Given the description of an element on the screen output the (x, y) to click on. 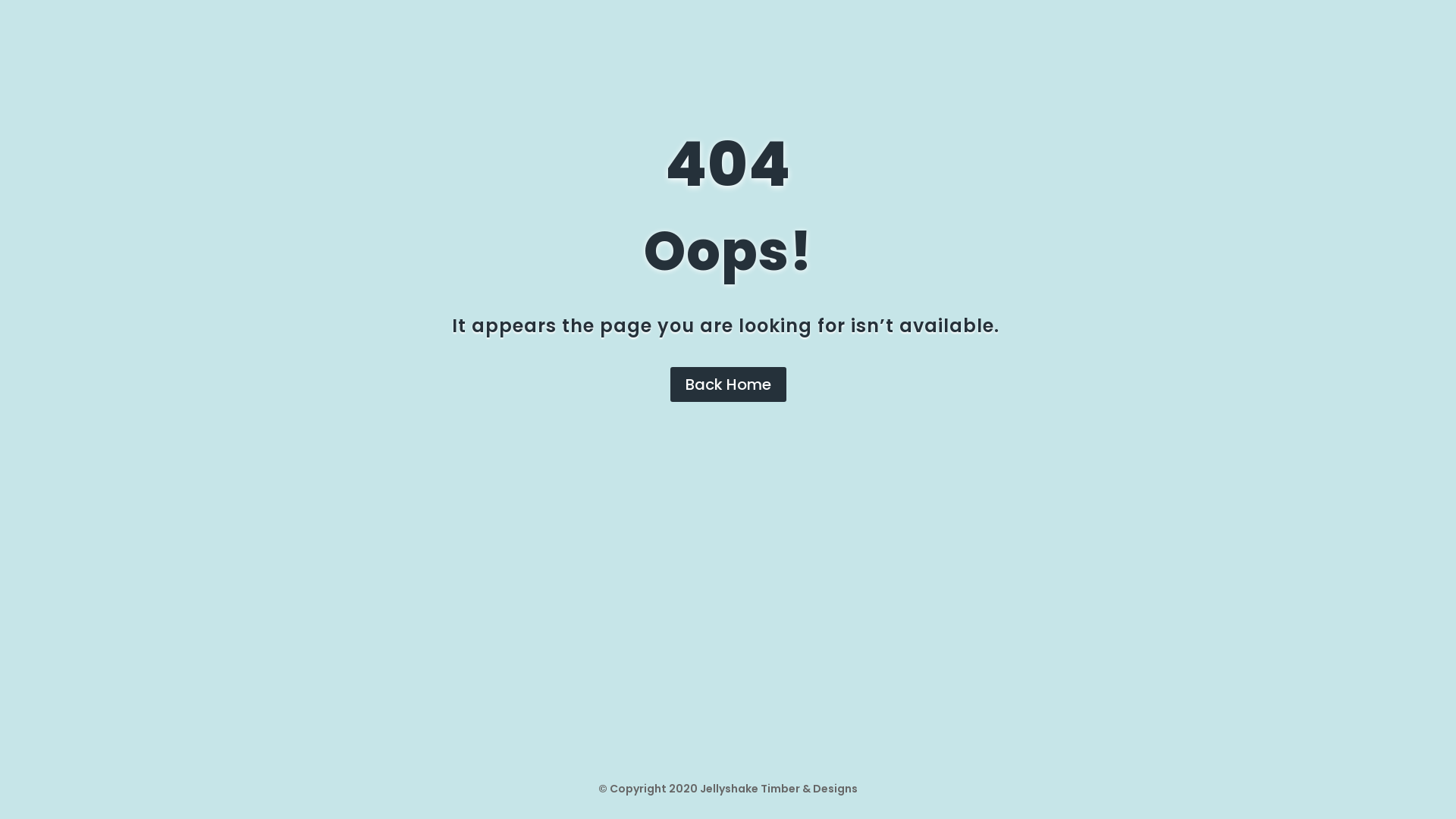
Back Home Element type: text (728, 384)
